Given the description of an element on the screen output the (x, y) to click on. 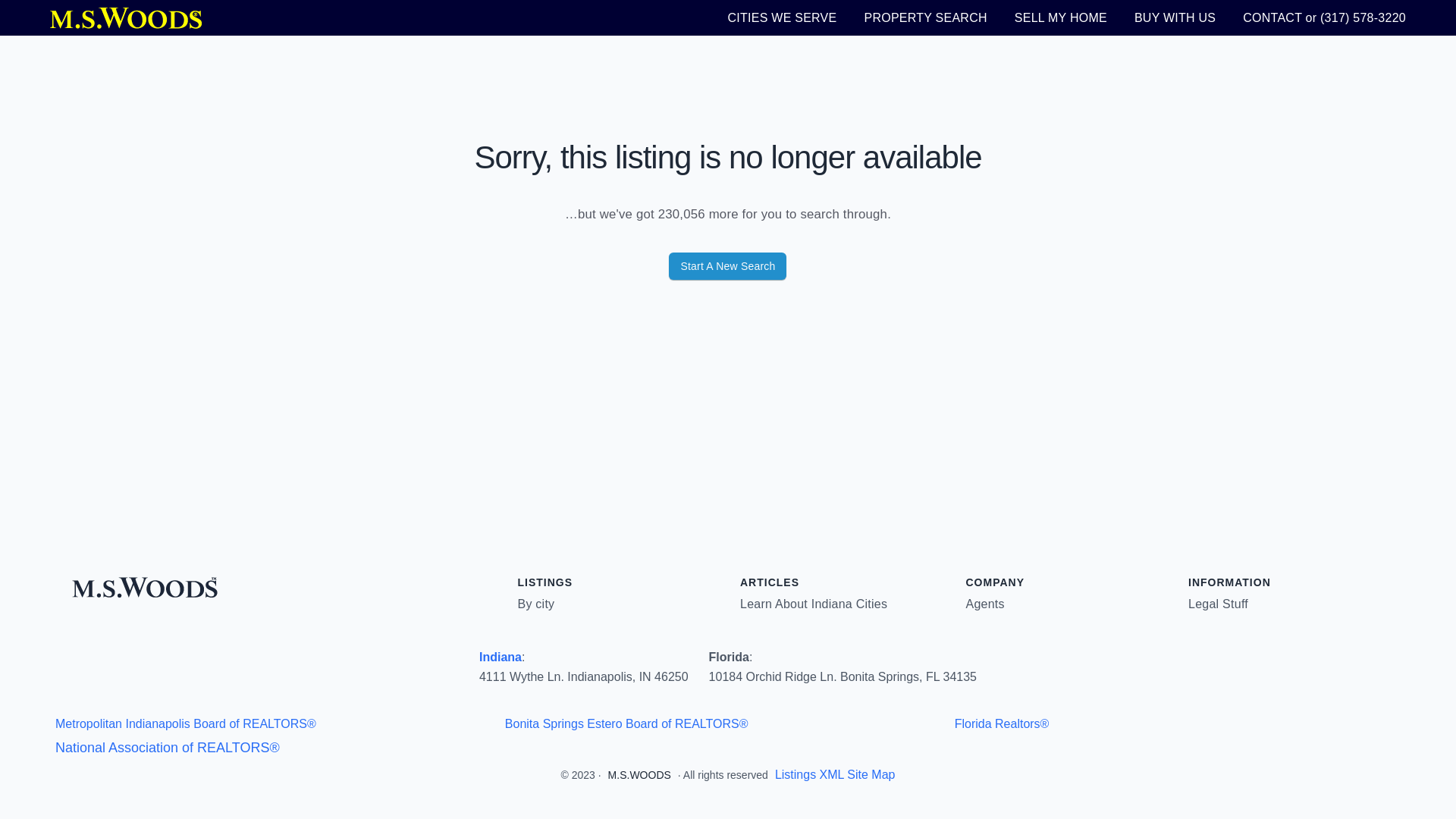
Start A New Search (727, 266)
PROPERTY SEARCH (925, 17)
Legal Stuff (1217, 604)
By city (535, 604)
CITIES WE SERVE (782, 17)
Indiana (500, 656)
Learn About Indiana Cities (812, 604)
M.S.WOODS (639, 775)
SELL MY HOME (1060, 17)
Agents (985, 604)
BUY WITH US (1174, 17)
Listings XML Site Map (834, 774)
